Given the description of an element on the screen output the (x, y) to click on. 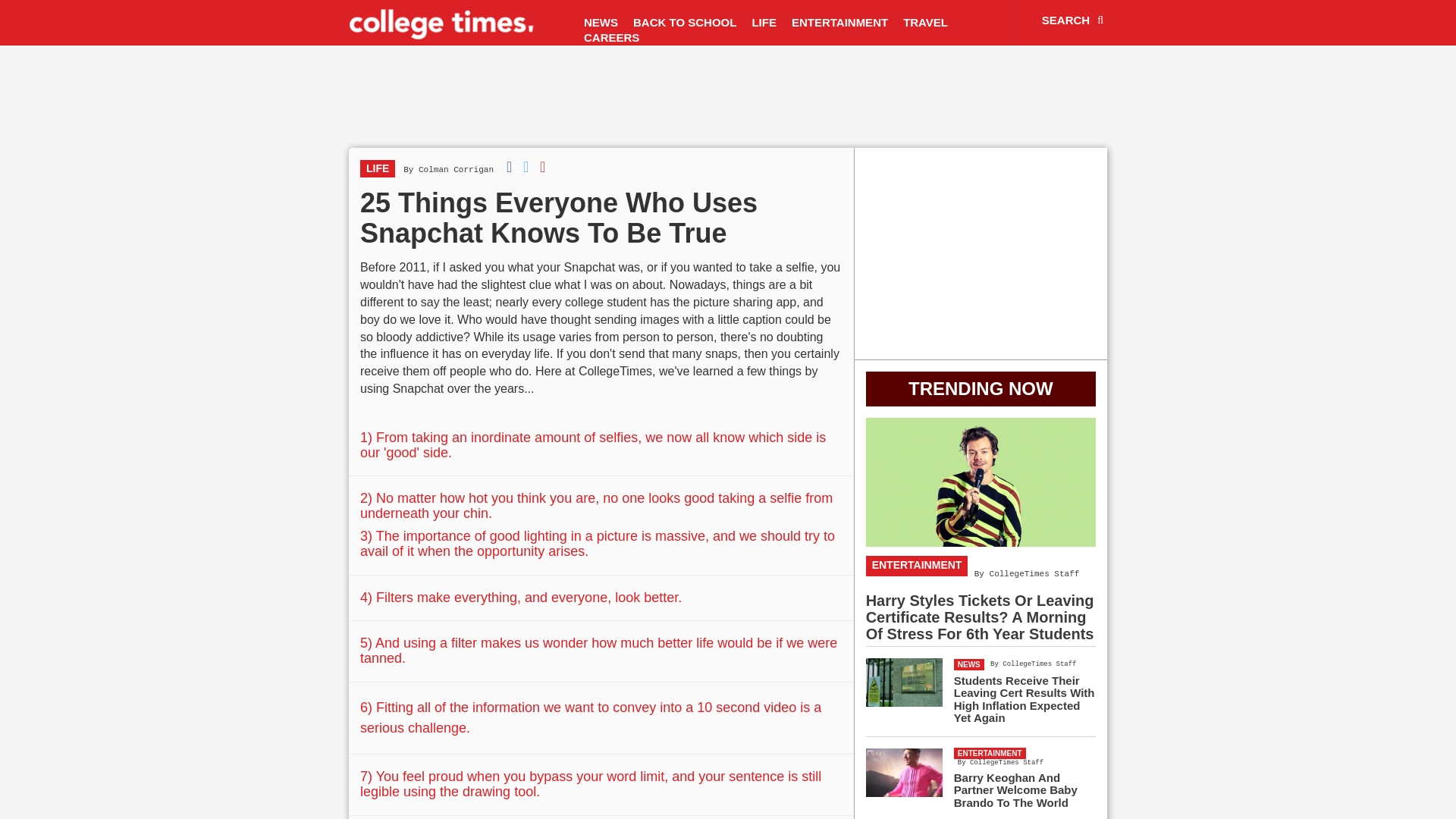
LIFE (764, 22)
ENTERTAINMENT (839, 22)
Colman Corrigan (456, 169)
TRAVEL (925, 22)
CAREERS (611, 37)
NEWS (601, 22)
BACK TO SCHOOL (685, 22)
LIFE (376, 168)
